Given the description of an element on the screen output the (x, y) to click on. 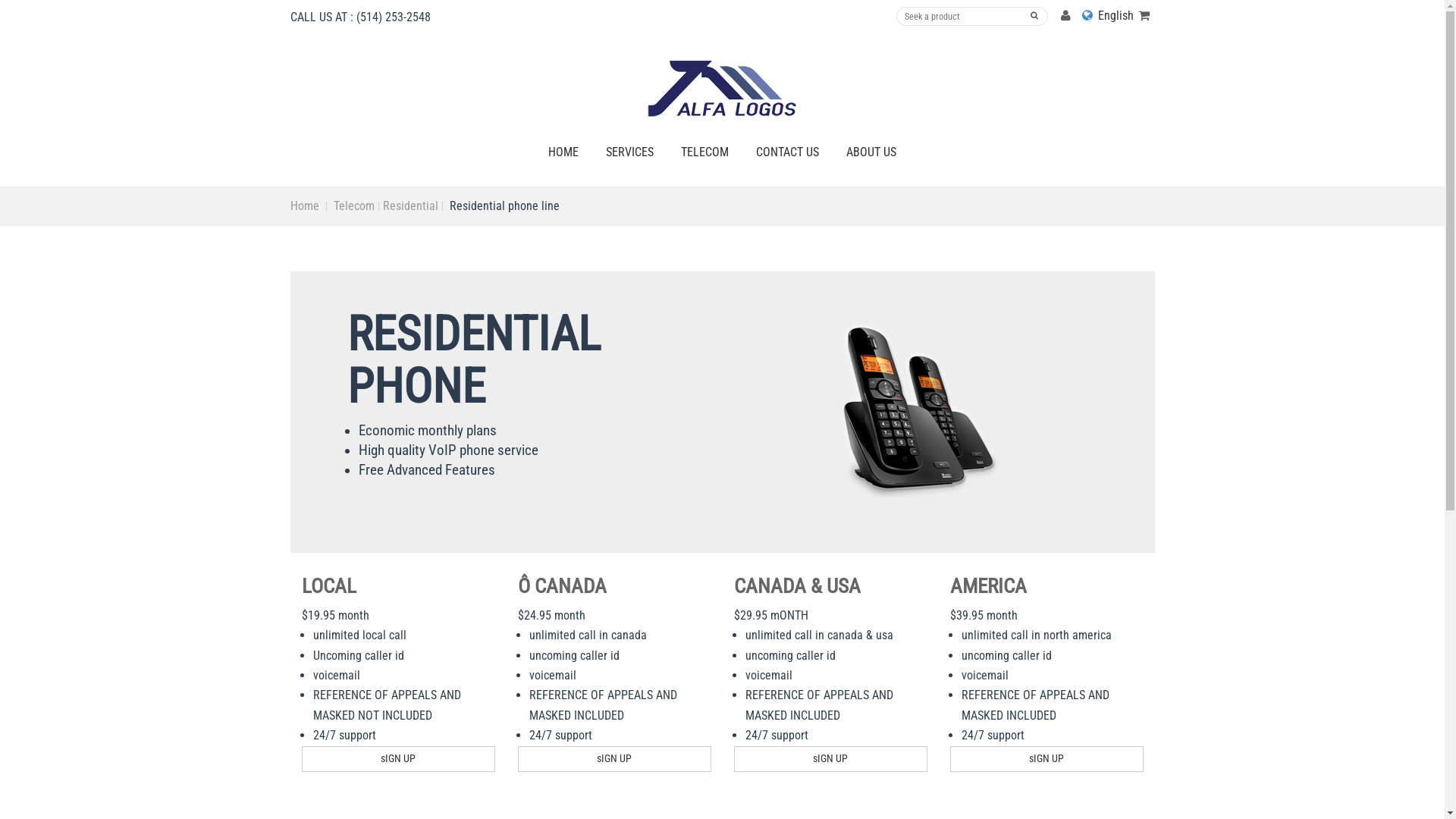
search Element type: text (1034, 15)
My Account Element type: hover (1065, 15)
sIGN UP Element type: text (830, 758)
Residential Element type: text (409, 205)
ABOUT US Element type: text (871, 152)
TELECOM Element type: text (704, 152)
sIGN UP Element type: text (398, 758)
View my shopping cart Element type: hover (1143, 15)
Telecom Element type: text (353, 205)
SERVICES Element type: text (629, 152)
CONTACT US Element type: text (787, 152)
Home Element type: text (303, 205)
Alfa Logos Element type: hover (721, 88)
sIGN UP Element type: text (613, 758)
HOME Element type: text (563, 152)
sIGN UP Element type: text (1045, 758)
